Given the description of an element on the screen output the (x, y) to click on. 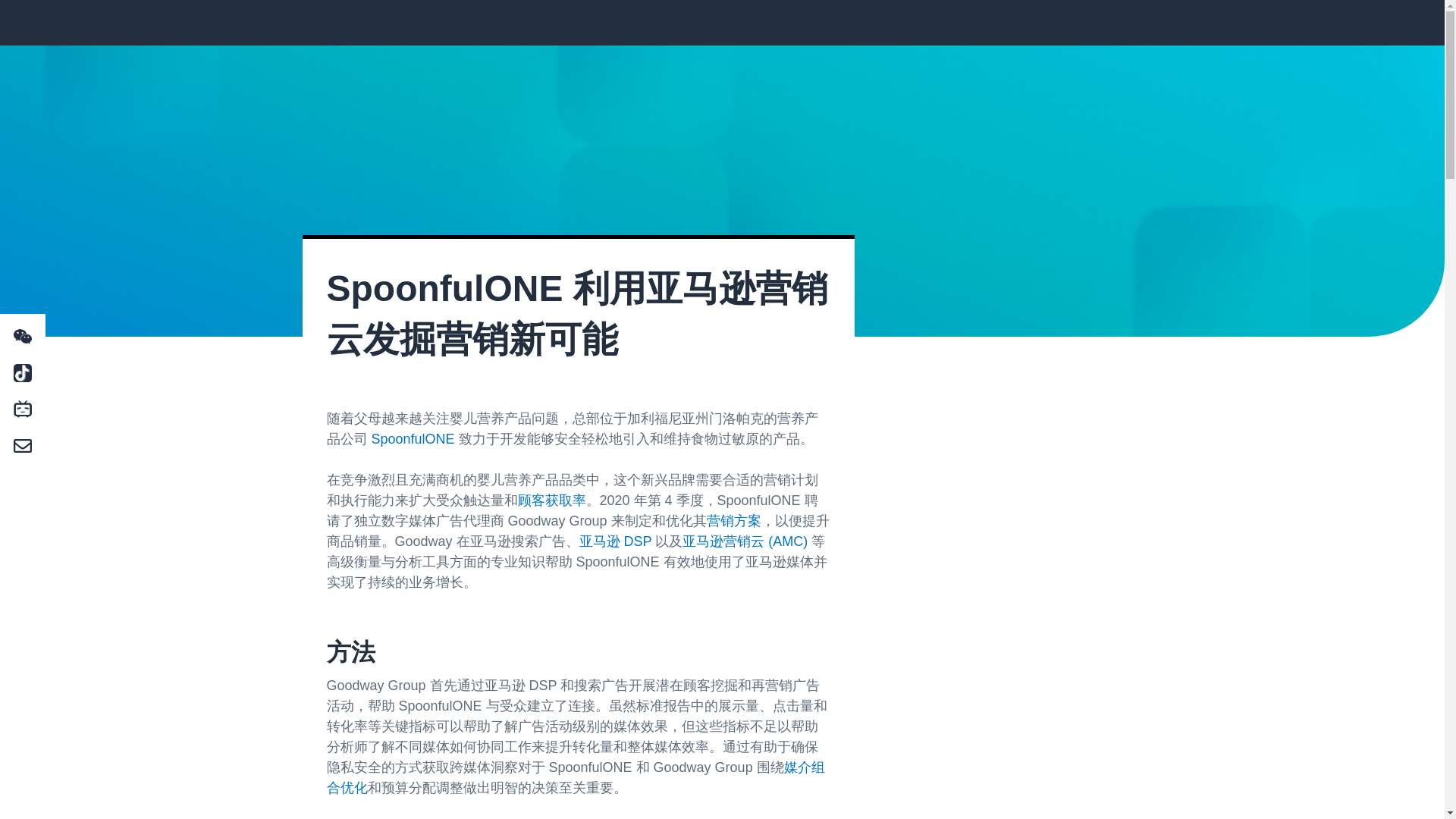
Share on Email (22, 445)
Share on Bilibili (22, 409)
Share on Wechat (22, 336)
Share on Douyin (22, 372)
SpoonfulONE (412, 438)
